Given the description of an element on the screen output the (x, y) to click on. 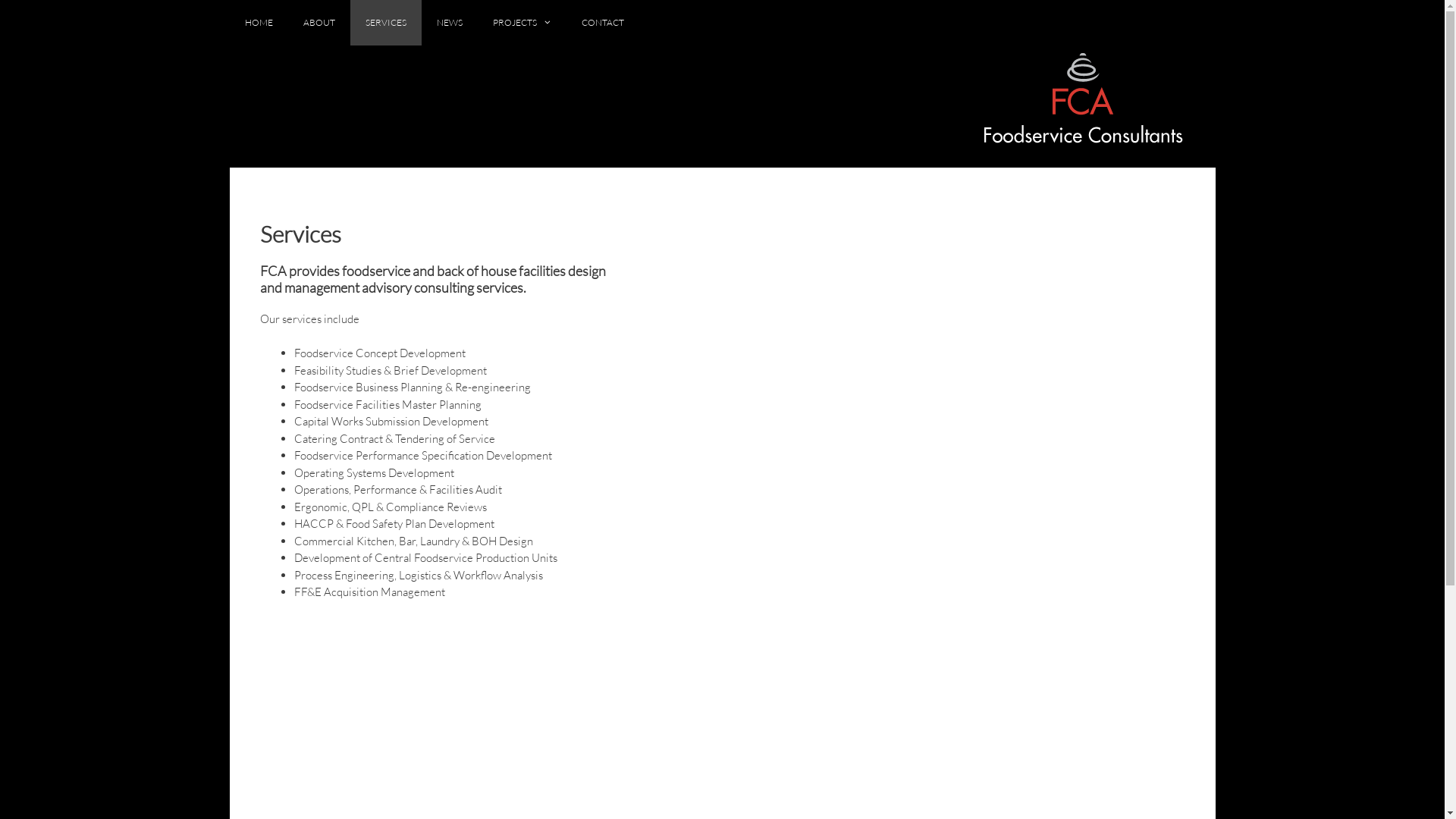
CONTACT Element type: text (602, 22)
HOME Element type: text (258, 22)
PROJECTS Element type: text (522, 22)
ABOUT Element type: text (319, 22)
SERVICES Element type: text (385, 22)
NEWS Element type: text (449, 22)
